Given the description of an element on the screen output the (x, y) to click on. 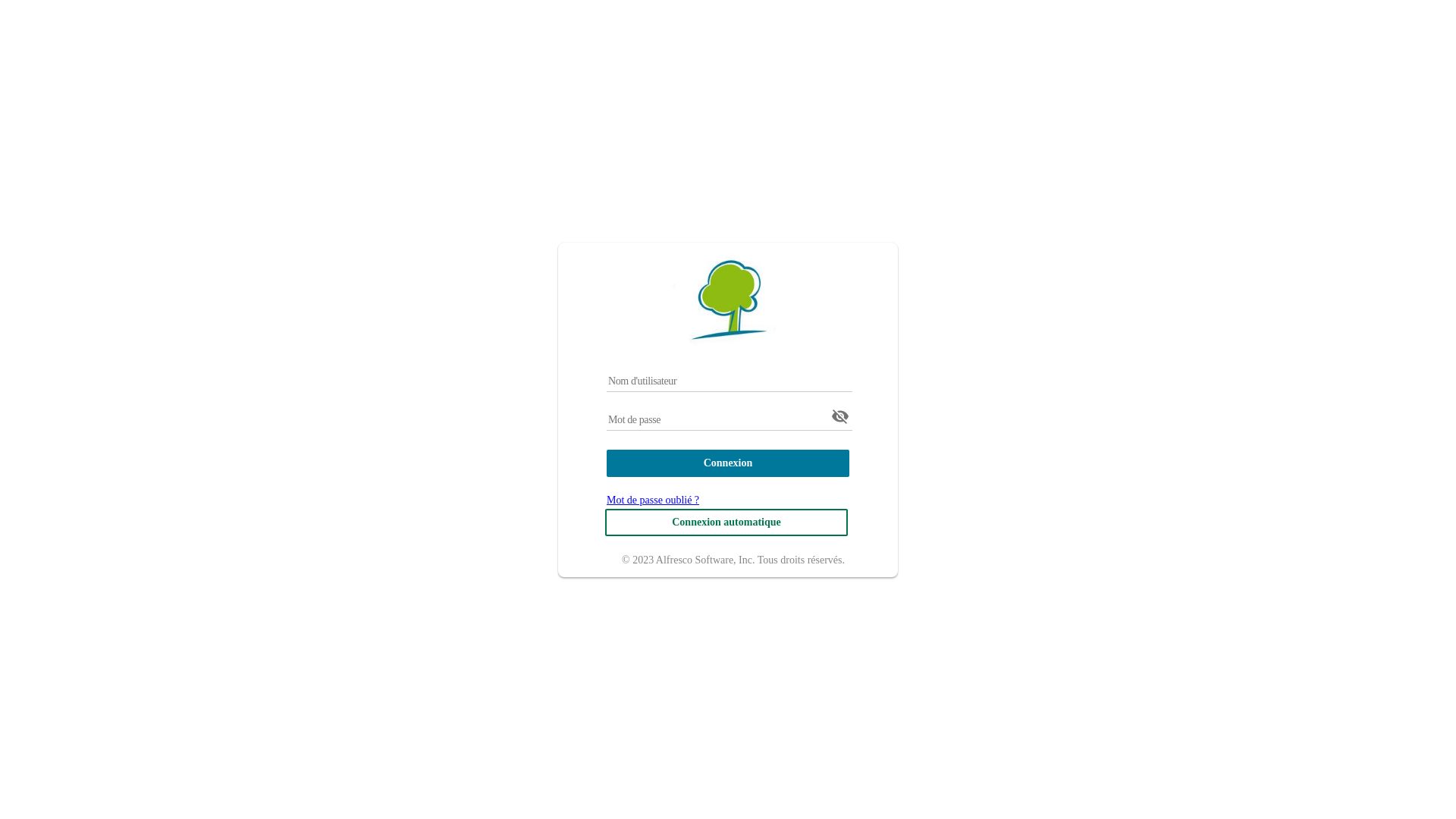
Connexion Element type: text (727, 462)
Connexion automatique Element type: text (726, 521)
